Given the description of an element on the screen output the (x, y) to click on. 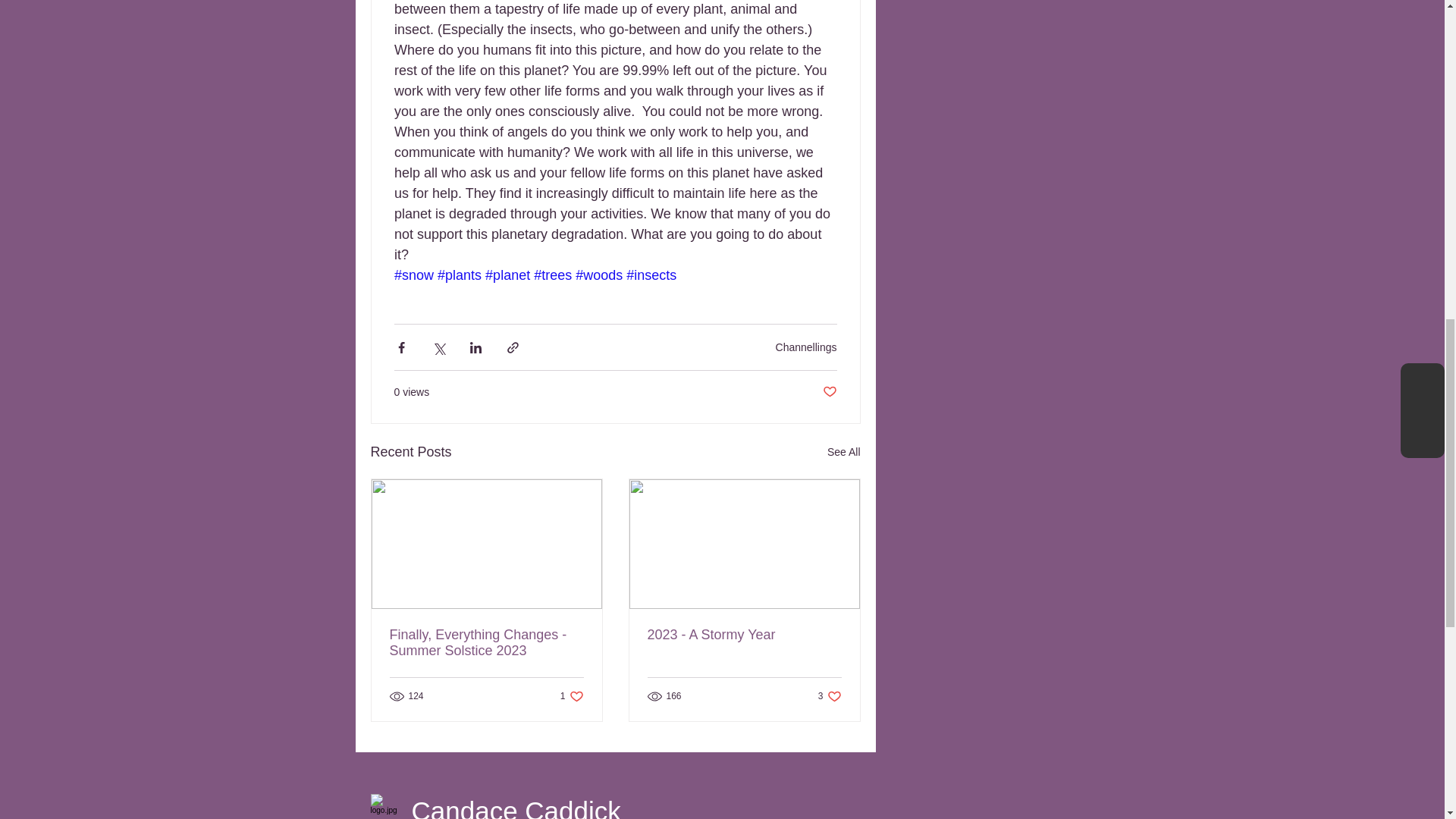
Channellings (571, 695)
Post not marked as liked (806, 346)
See All (828, 392)
2023 - A Stormy Year (843, 452)
Finally, Everything Changes - Summer Solstice 2023 (744, 634)
